Given the description of an element on the screen output the (x, y) to click on. 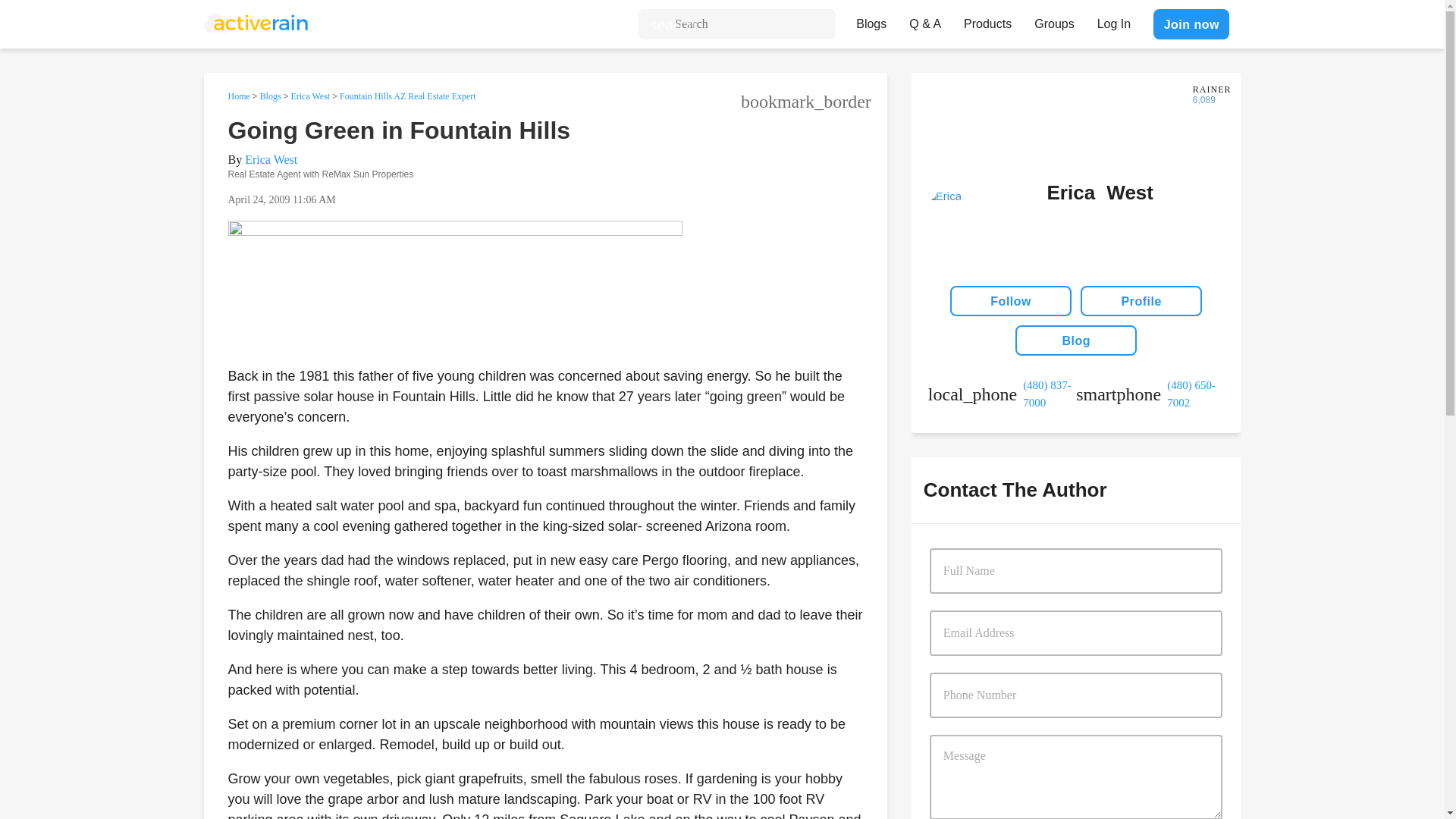
Erica West (309, 95)
Blogs (270, 95)
Blogs (870, 19)
Join now (1190, 24)
Groups (1053, 19)
Home (237, 95)
Fountain Hills AZ Real Estate Expert (407, 95)
cell (1149, 393)
Log In (1113, 19)
Products (986, 19)
